Given the description of an element on the screen output the (x, y) to click on. 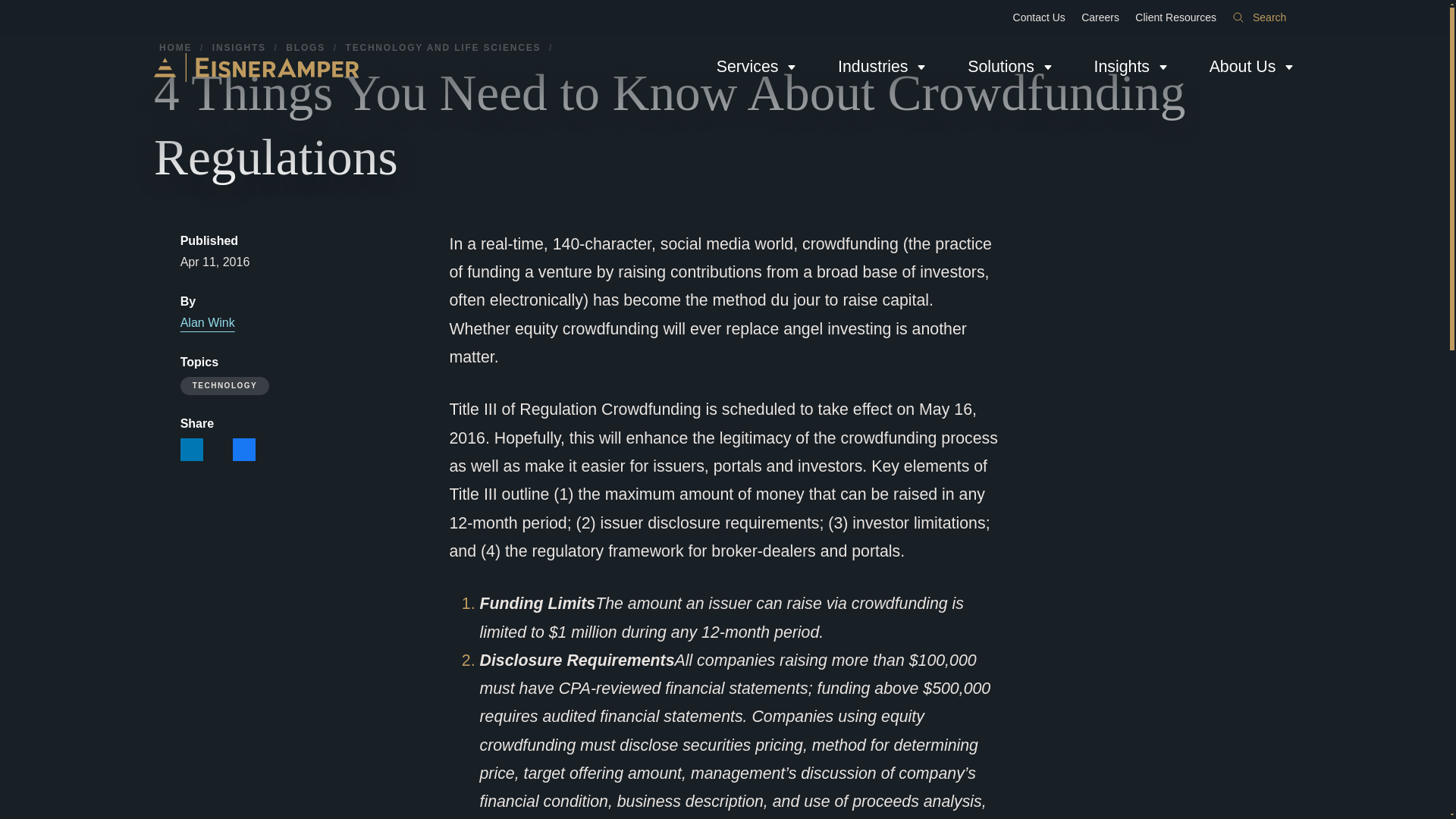
Search (1259, 17)
Contact Us (1039, 17)
Client Resources (1175, 17)
Careers (1100, 17)
Skip to content (12, 6)
EisnerAmper Home (256, 67)
